Given the description of an element on the screen output the (x, y) to click on. 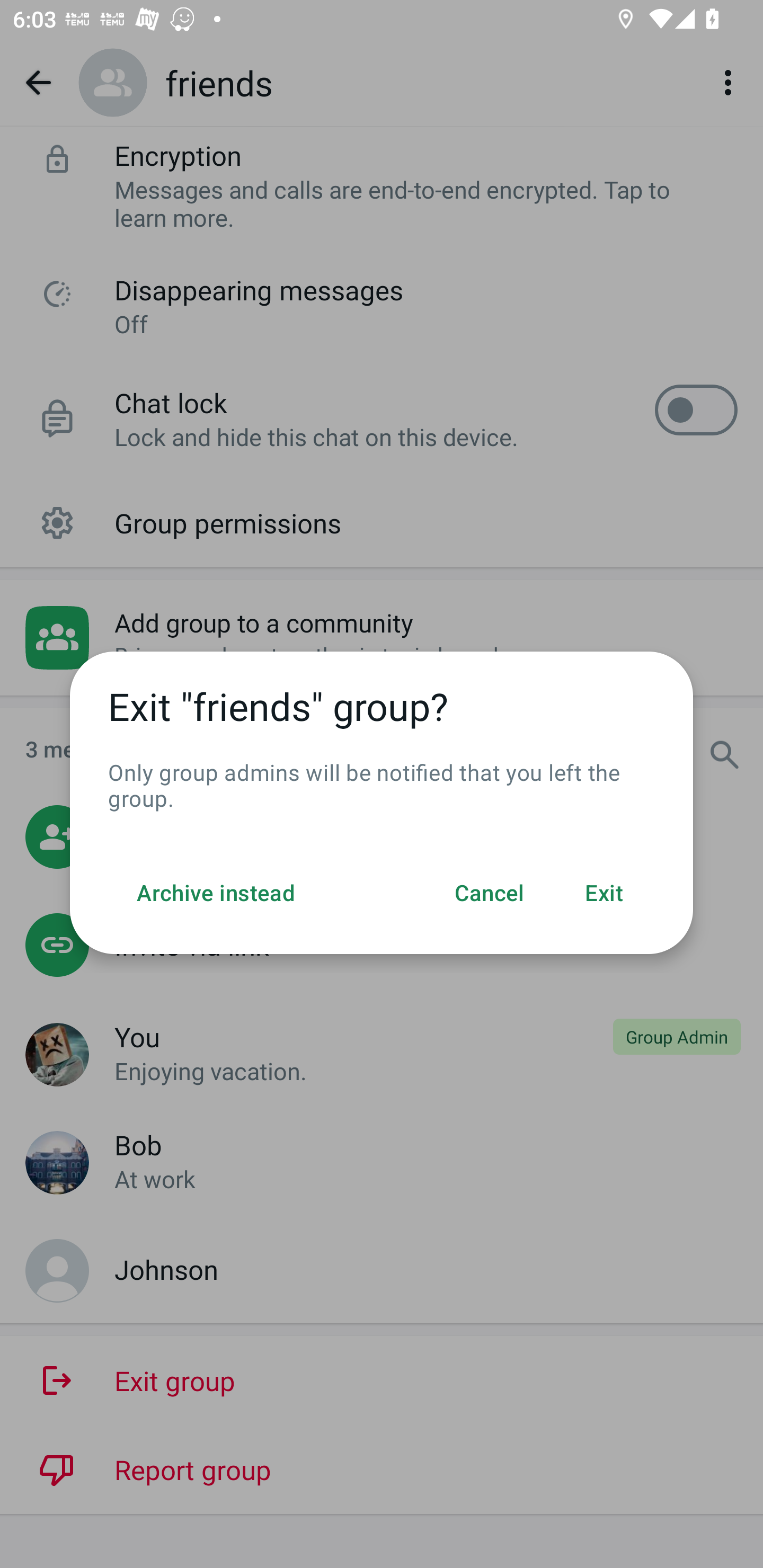
Archive instead (216, 893)
Cancel (489, 893)
Exit (603, 893)
